Given the description of an element on the screen output the (x, y) to click on. 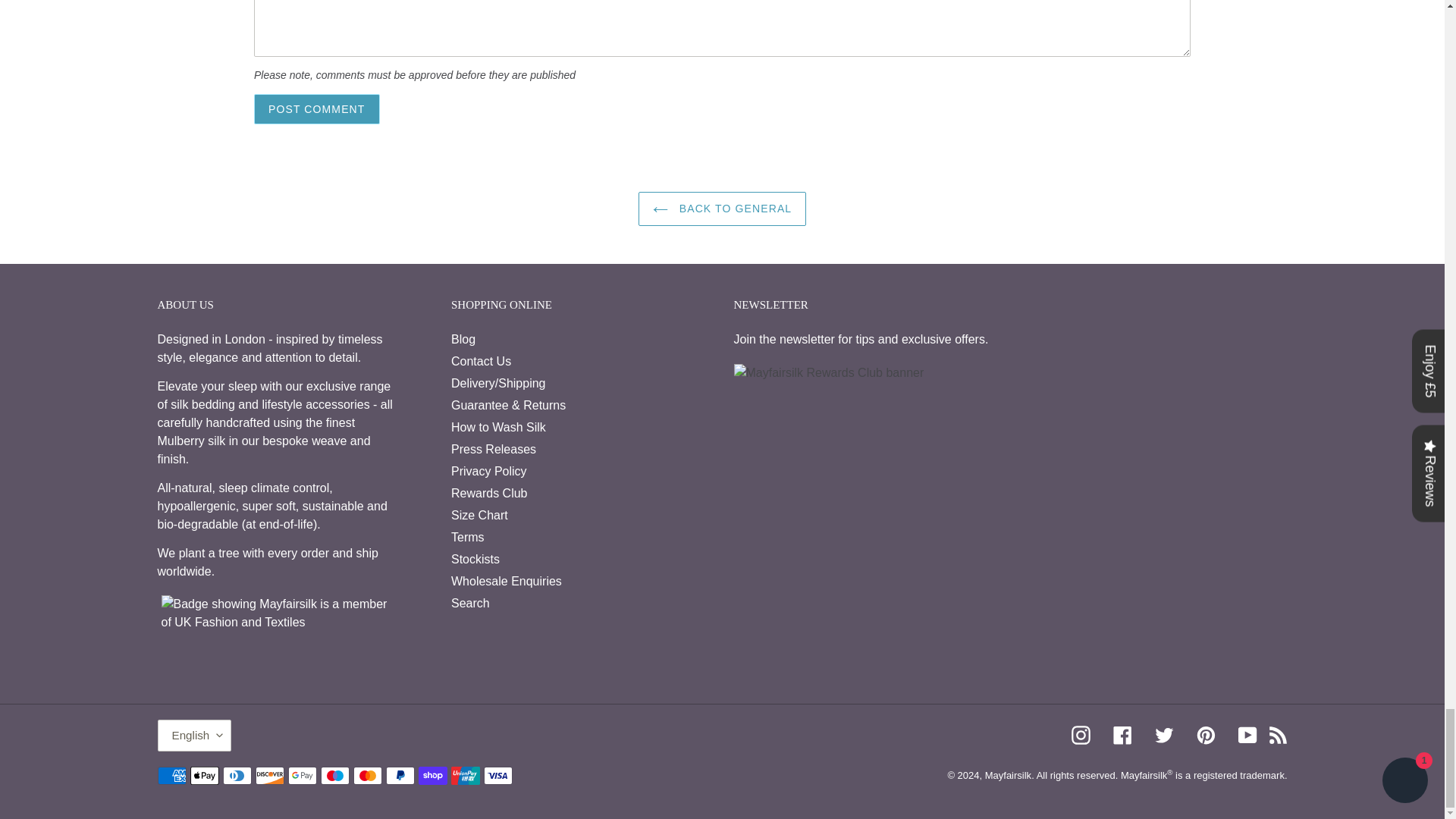
Post comment (316, 109)
